Given the description of an element on the screen output the (x, y) to click on. 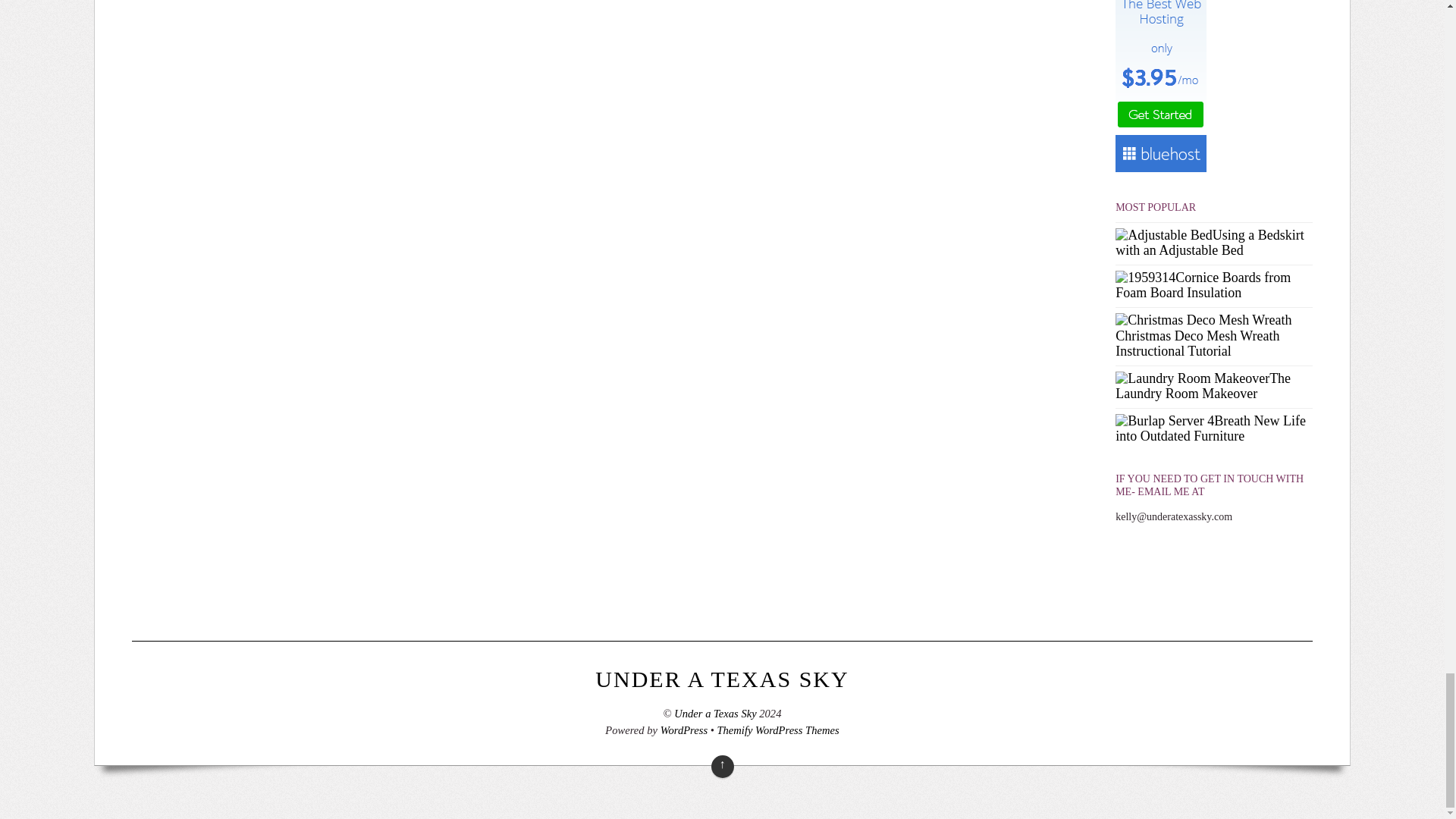
Under a Texas Sky (721, 678)
Cornice Boards from Foam Board Insulation (1144, 278)
The Laundry Room Makeover (1192, 378)
Using a Bedskirt with an Adjustable Bed (1163, 235)
Christmas Deco Mesh Wreath Instructional Tutorial (1203, 320)
Breath New Life into Outdated Furniture (1164, 421)
